Given the description of an element on the screen output the (x, y) to click on. 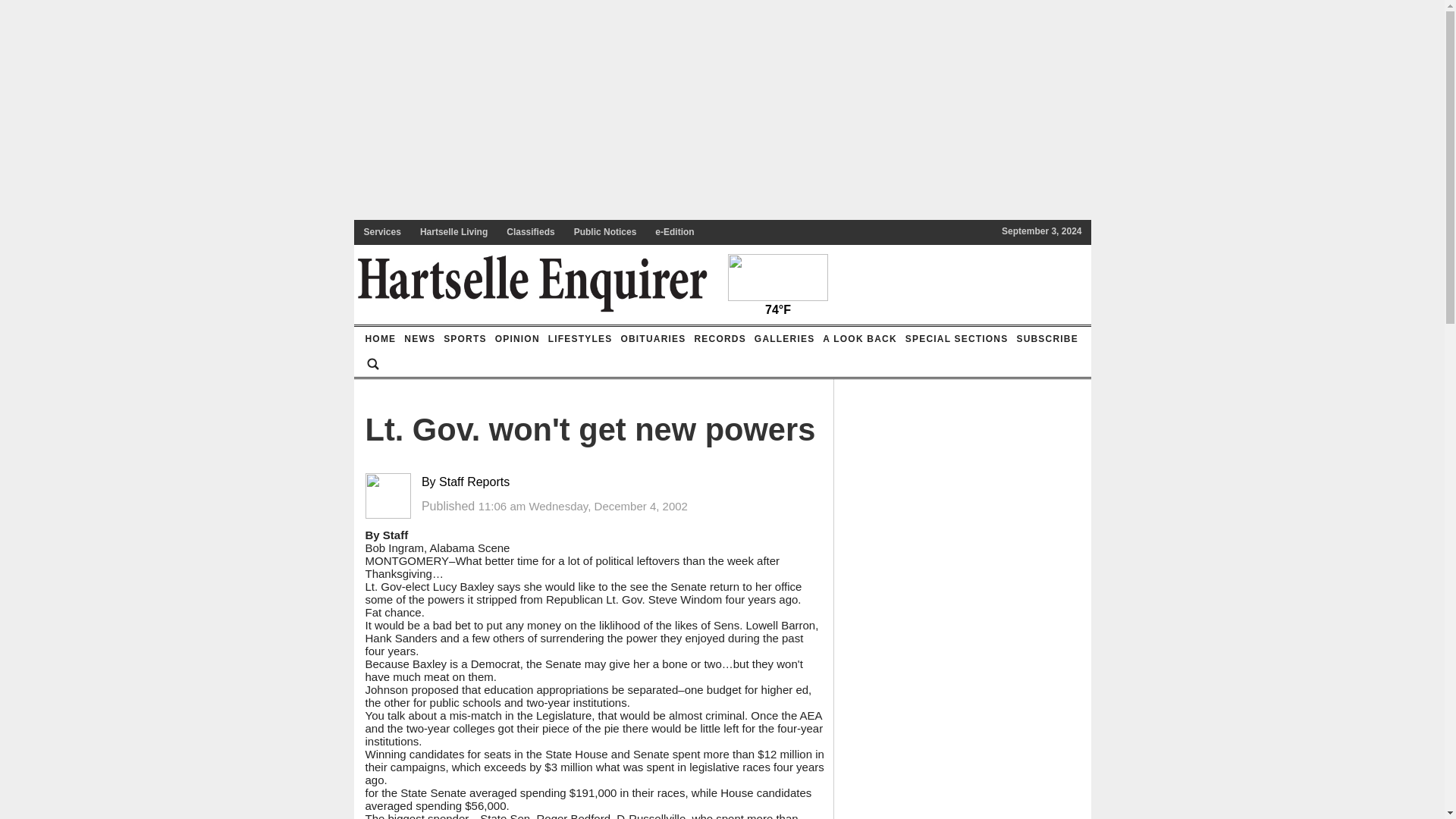
Public Notices (605, 232)
Classifieds (530, 232)
Hartselle Living (453, 232)
Services (382, 232)
e-Edition (674, 232)
